Given the description of an element on the screen output the (x, y) to click on. 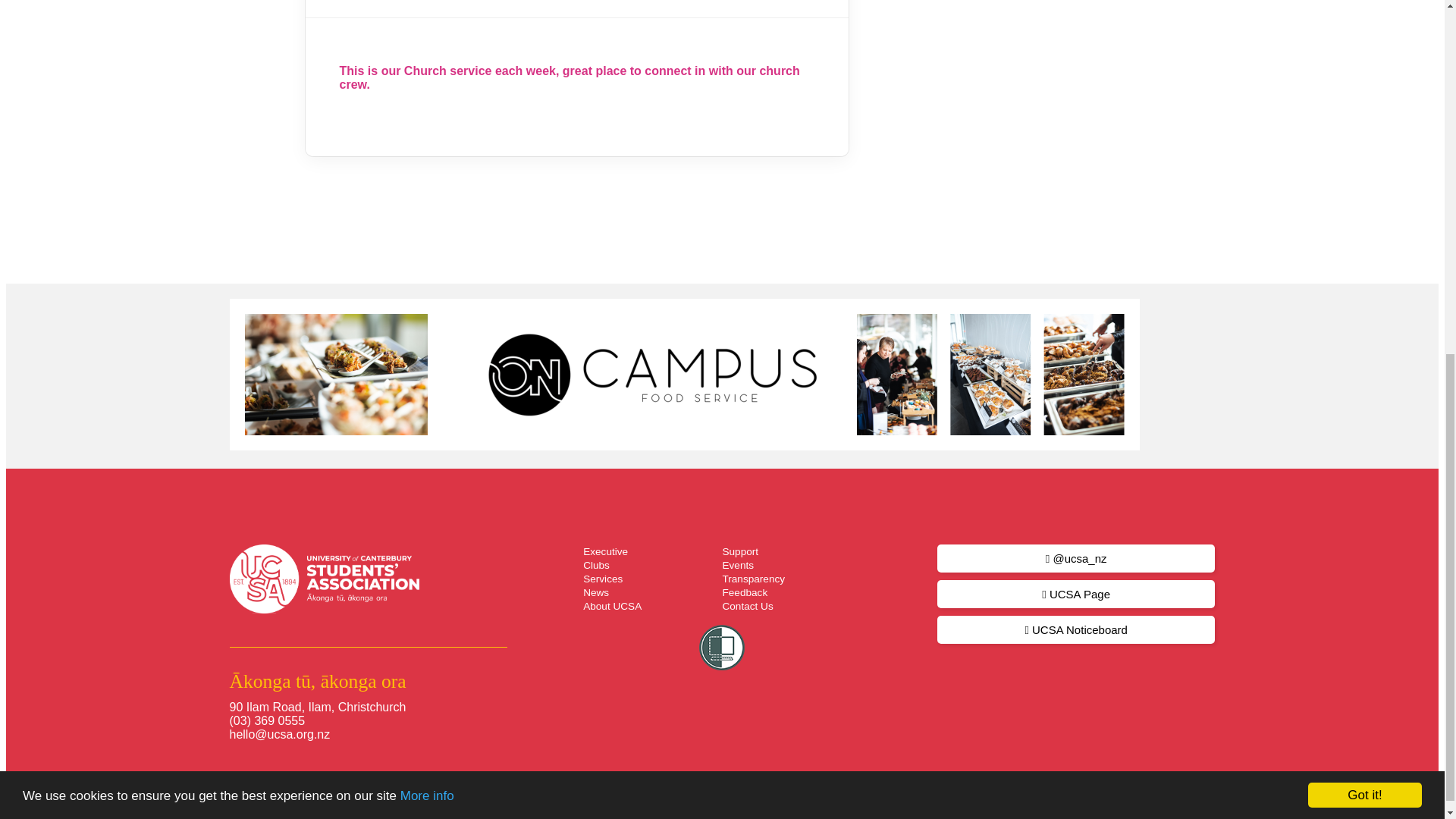
Support (740, 551)
Executive (605, 551)
